Given the description of an element on the screen output the (x, y) to click on. 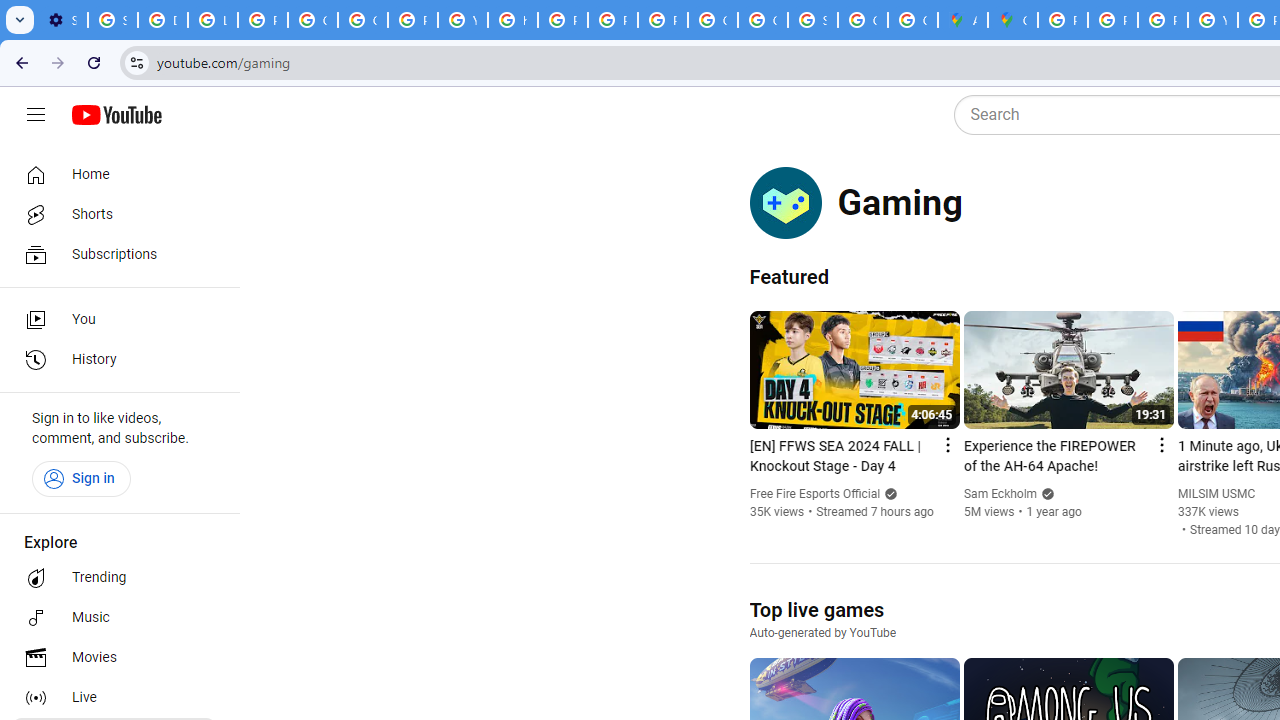
Policy Accountability and Transparency - Transparency Center (1062, 20)
Create your Google Account (913, 20)
YouTube (1212, 20)
Action menu (1160, 444)
Free Fire Esports Official (814, 494)
Privacy Help Center - Policies Help (1162, 20)
Home (113, 174)
https://scholar.google.com/ (512, 20)
Sam Eckholm (1000, 494)
